Given the description of an element on the screen output the (x, y) to click on. 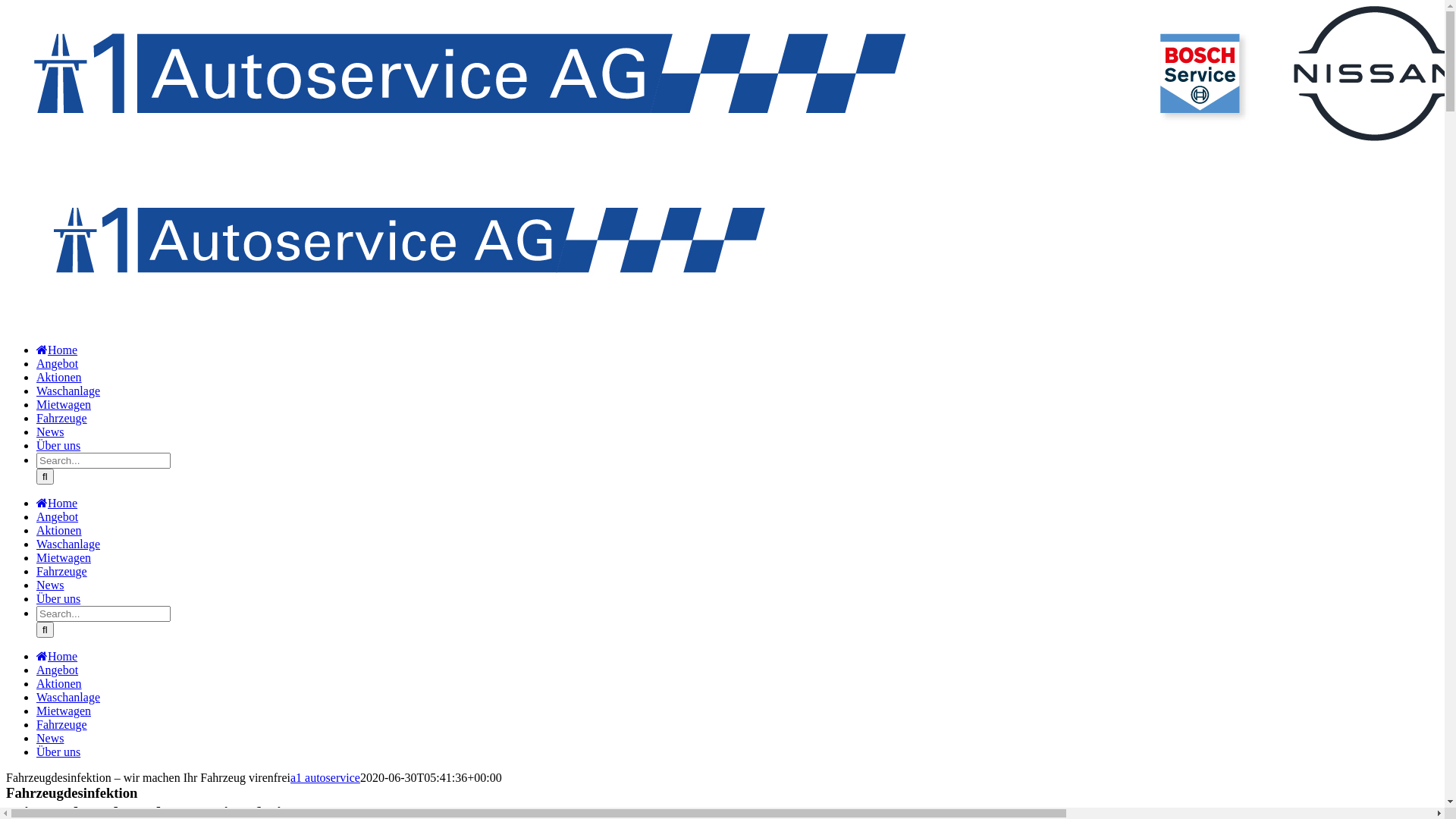
Waschanlage Element type: text (76, 543)
Home Element type: text (65, 349)
Fahrzeuge Element type: text (70, 570)
Mietwagen Element type: text (72, 404)
Fahrzeuge Element type: text (70, 417)
Mietwagen Element type: text (72, 710)
Angebot Element type: text (65, 669)
Home Element type: text (65, 502)
Angebot Element type: text (65, 363)
News Element type: text (58, 584)
Waschanlage Element type: text (76, 390)
Aktionen Element type: text (67, 530)
Aktionen Element type: text (67, 683)
a1 autoservice Element type: text (325, 777)
Aktionen Element type: text (67, 376)
Fahrzeuge Element type: text (70, 724)
News Element type: text (58, 737)
News Element type: text (58, 431)
Home Element type: text (65, 655)
Angebot Element type: text (65, 516)
Waschanlage Element type: text (76, 696)
Mietwagen Element type: text (72, 557)
Skip to content Element type: text (5, 5)
